Given the description of an element on the screen output the (x, y) to click on. 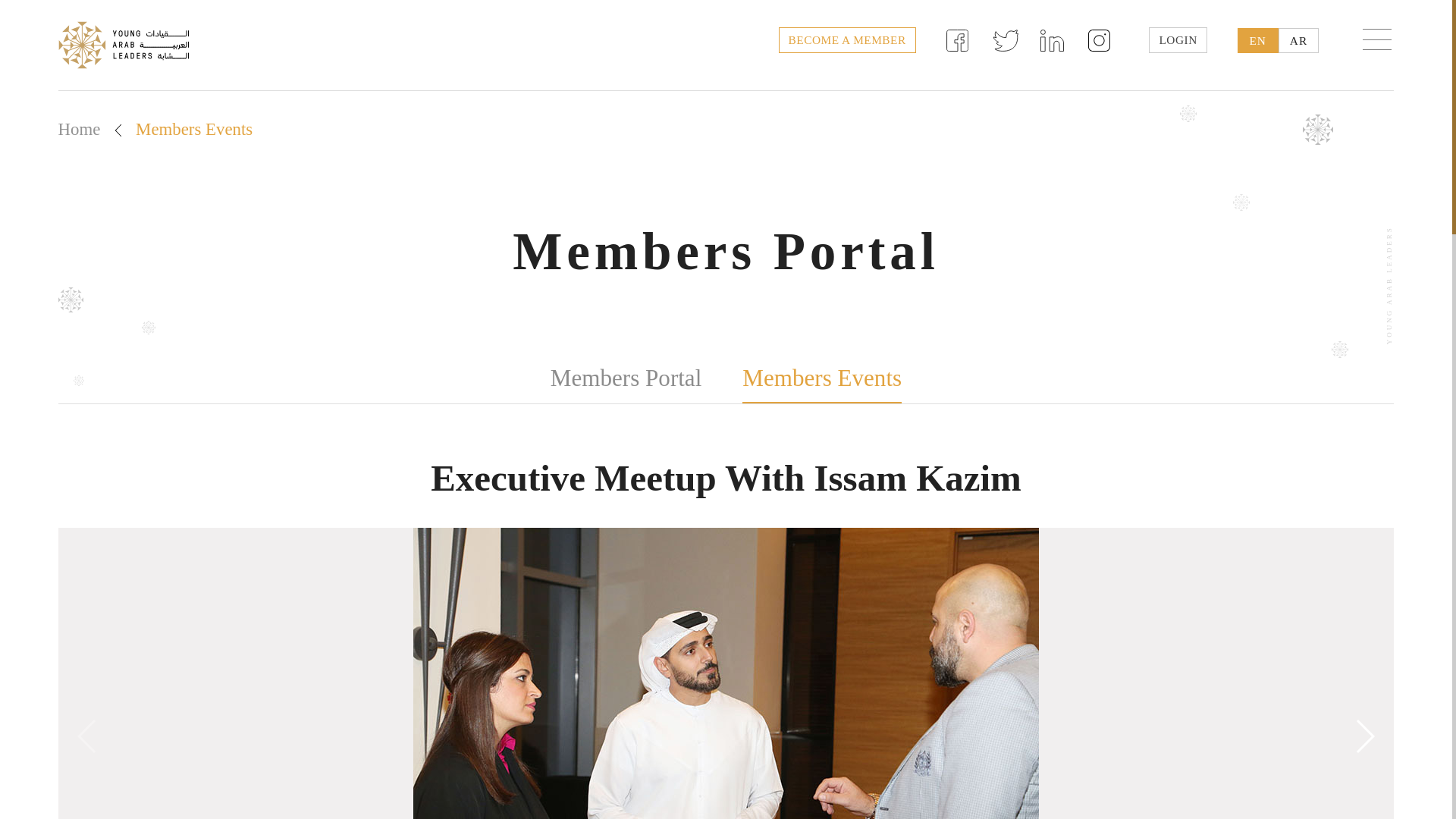
Members Events (821, 378)
Members Events (193, 128)
LOGIN (1177, 39)
Members Portal (625, 377)
BECOME A MEMBER (846, 39)
EN (1257, 40)
AR (1298, 40)
Home (79, 128)
